Given the description of an element on the screen output the (x, y) to click on. 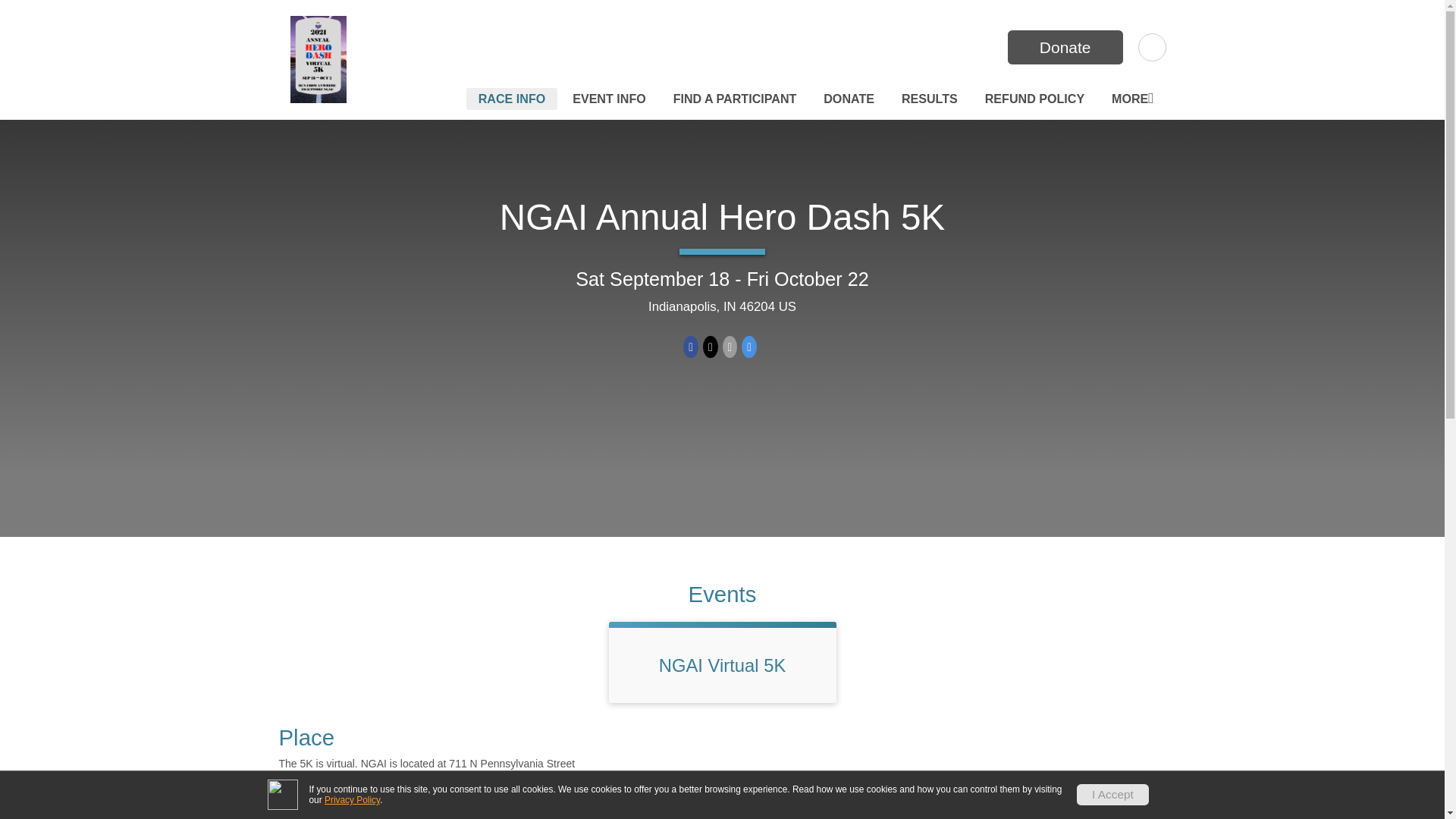
Donate (1064, 47)
RACE INFO (511, 98)
DONATE (848, 98)
RESULTS (929, 98)
NGAI Annual Hero Dash 5K (721, 217)
EVENT INFO (608, 98)
MORE (1131, 98)
NGAI Virtual 5K (722, 665)
REFUND POLICY (1034, 98)
FIND A PARTICIPANT (735, 98)
